Given the description of an element on the screen output the (x, y) to click on. 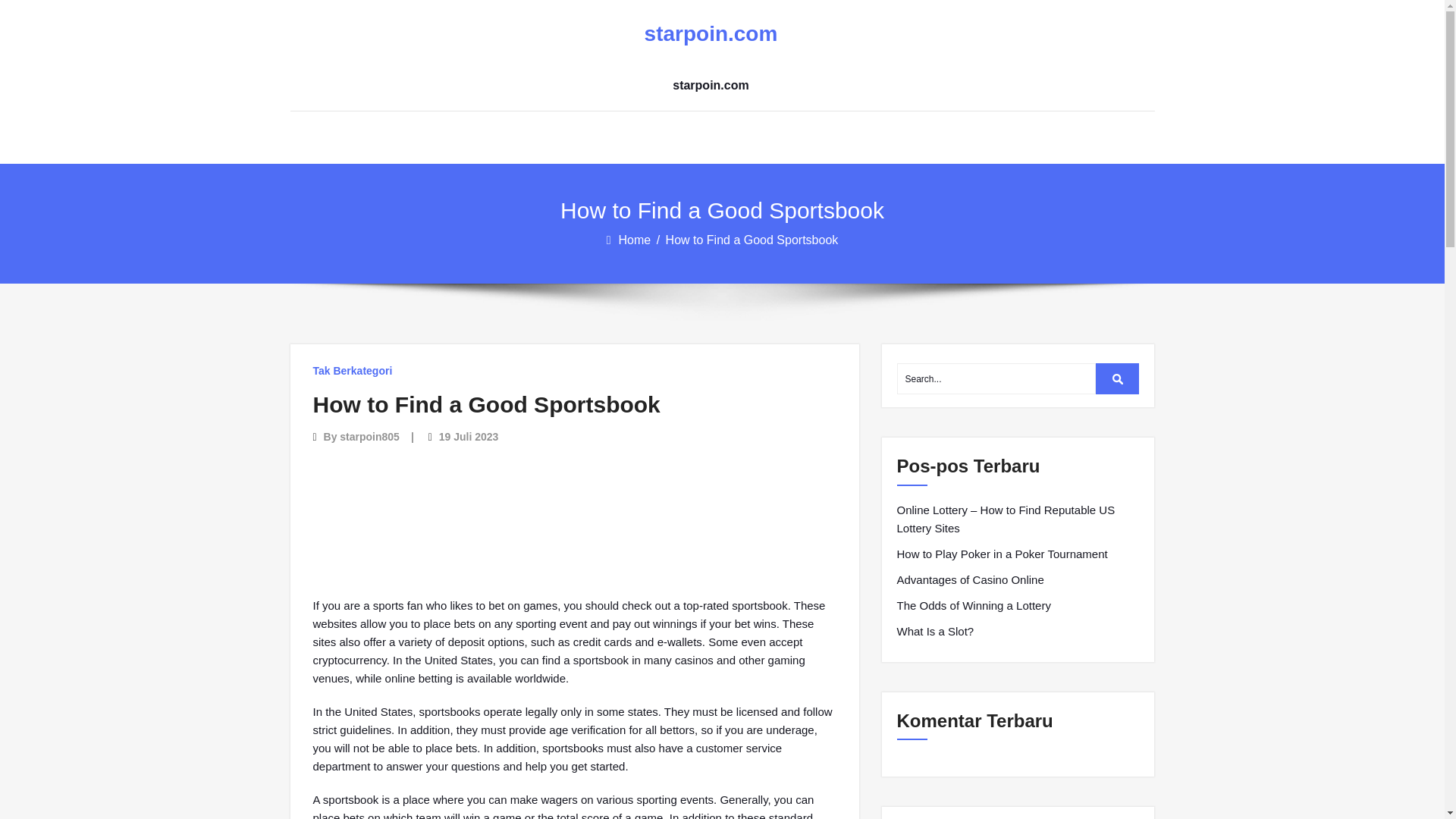
Tak Berkategori (352, 370)
The Odds of Winning a Lottery (972, 606)
starpoin.com (710, 34)
Search (1118, 378)
What Is a Slot? (935, 631)
Advantages of Casino Online (969, 579)
Search (1118, 378)
starpoin805 (368, 436)
Home (635, 239)
19 Juli 2023 (469, 436)
How to Play Poker in a Poker Tournament (1001, 554)
